Given the description of an element on the screen output the (x, y) to click on. 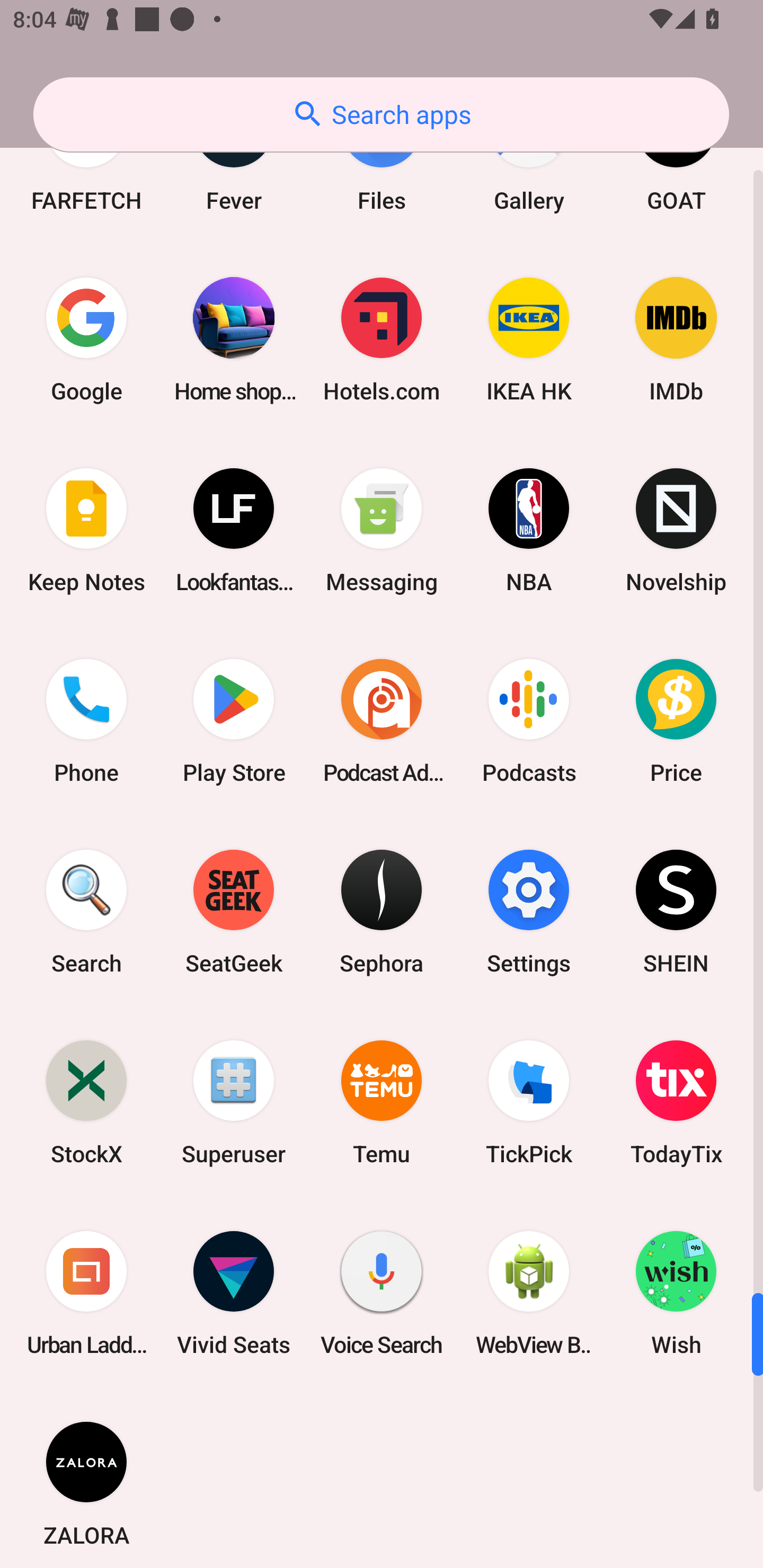
  Search apps (381, 114)
Google (86, 339)
Home shopping (233, 339)
Hotels.com (381, 339)
IKEA HK (528, 339)
IMDb (676, 339)
Keep Notes (86, 529)
Lookfantastic (233, 529)
Messaging (381, 529)
NBA (528, 529)
Novelship (676, 529)
Phone (86, 720)
Play Store (233, 720)
Podcast Addict (381, 720)
Podcasts (528, 720)
Price (676, 720)
Search (86, 911)
SeatGeek (233, 911)
Sephora (381, 911)
Settings (528, 911)
SHEIN (676, 911)
StockX (86, 1101)
Superuser (233, 1101)
Temu (381, 1101)
TickPick (528, 1101)
TodayTix (676, 1101)
Urban Ladder (86, 1292)
Vivid Seats (233, 1292)
Voice Search (381, 1292)
WebView Browser Tester (528, 1292)
Wish (676, 1292)
ZALORA (86, 1477)
